Given the description of an element on the screen output the (x, y) to click on. 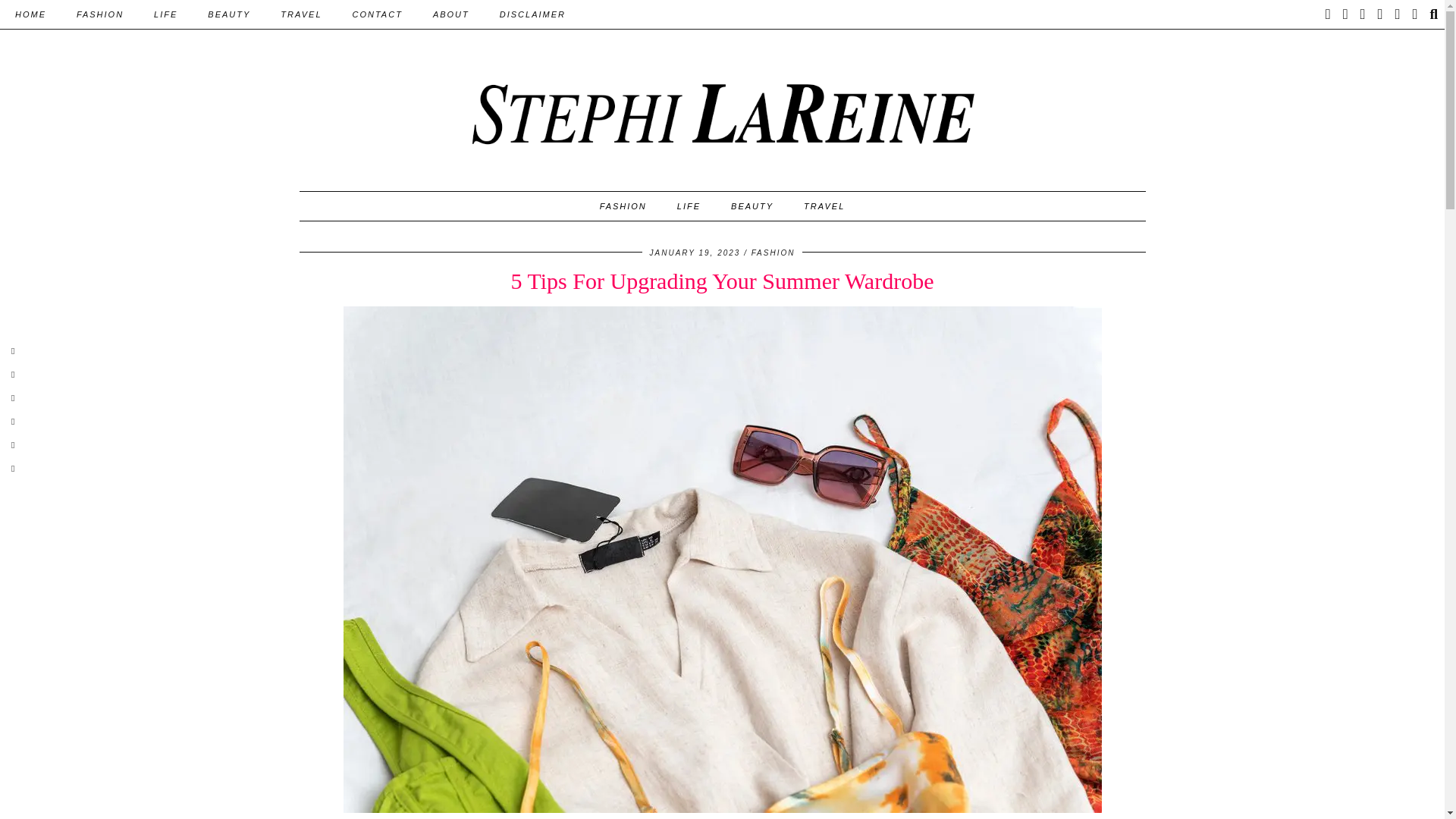
TRAVEL (300, 14)
HOME (30, 14)
BEAUTY (228, 14)
CONTACT (377, 14)
LIFE (165, 14)
FASHION (99, 14)
